Given the description of an element on the screen output the (x, y) to click on. 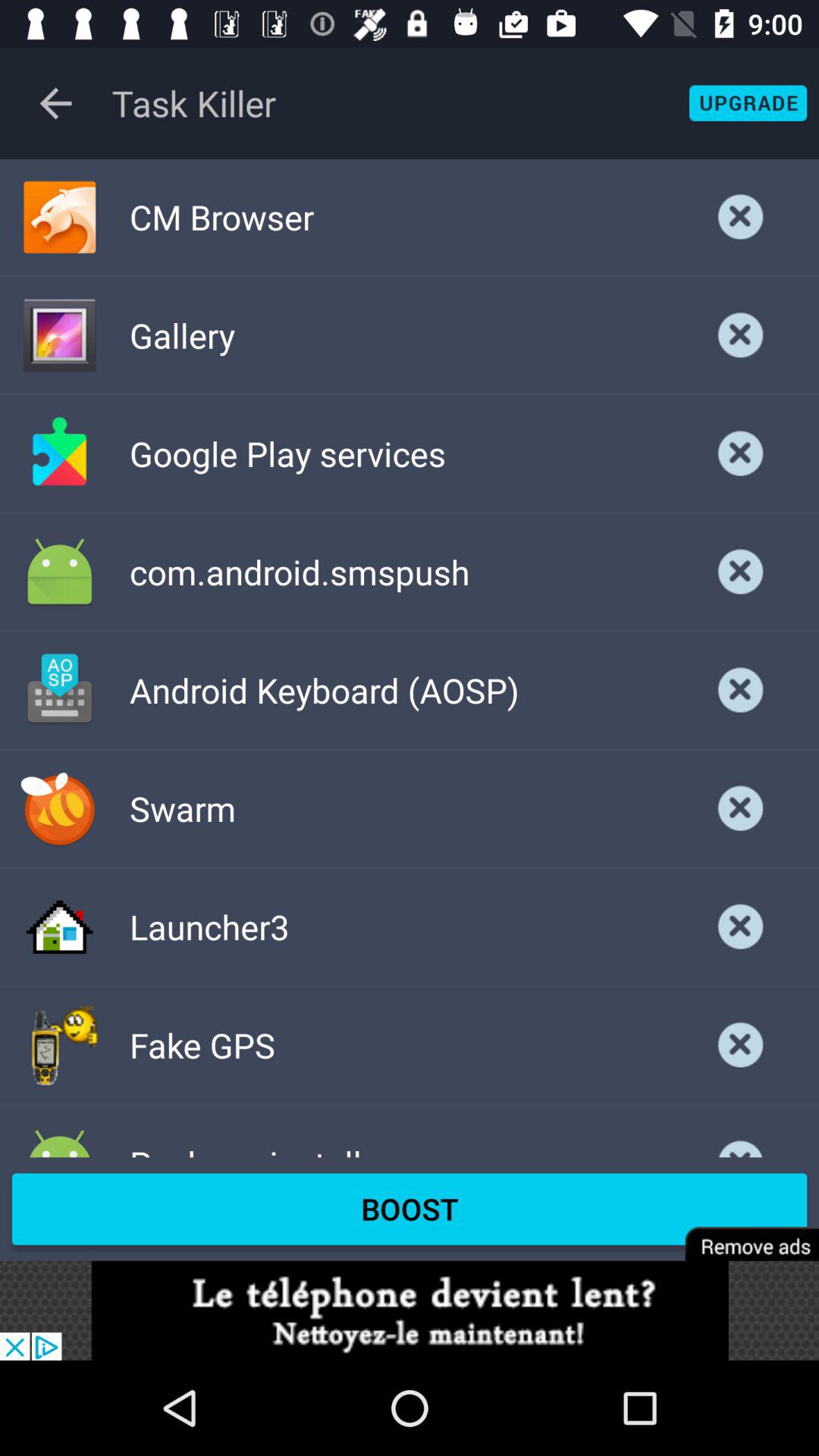
exit option for launcher3 (740, 926)
